Given the description of an element on the screen output the (x, y) to click on. 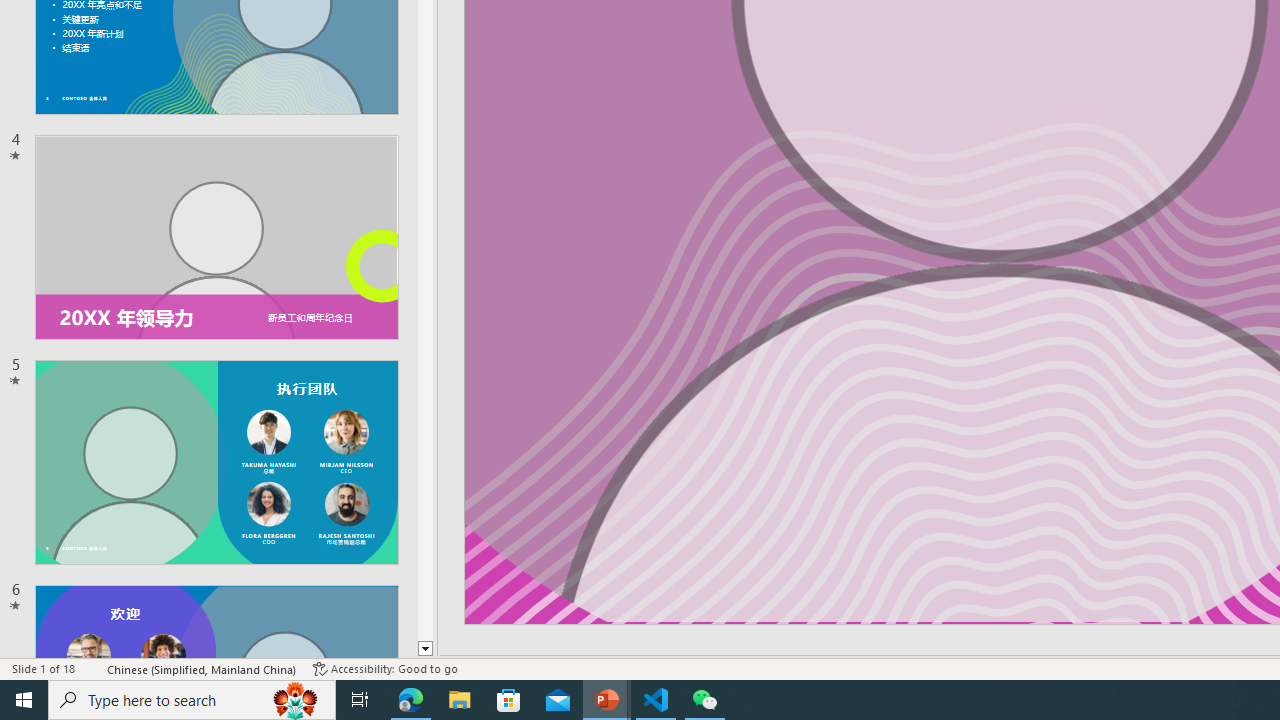
Spell Check  (92, 668)
